Given the description of an element on the screen output the (x, y) to click on. 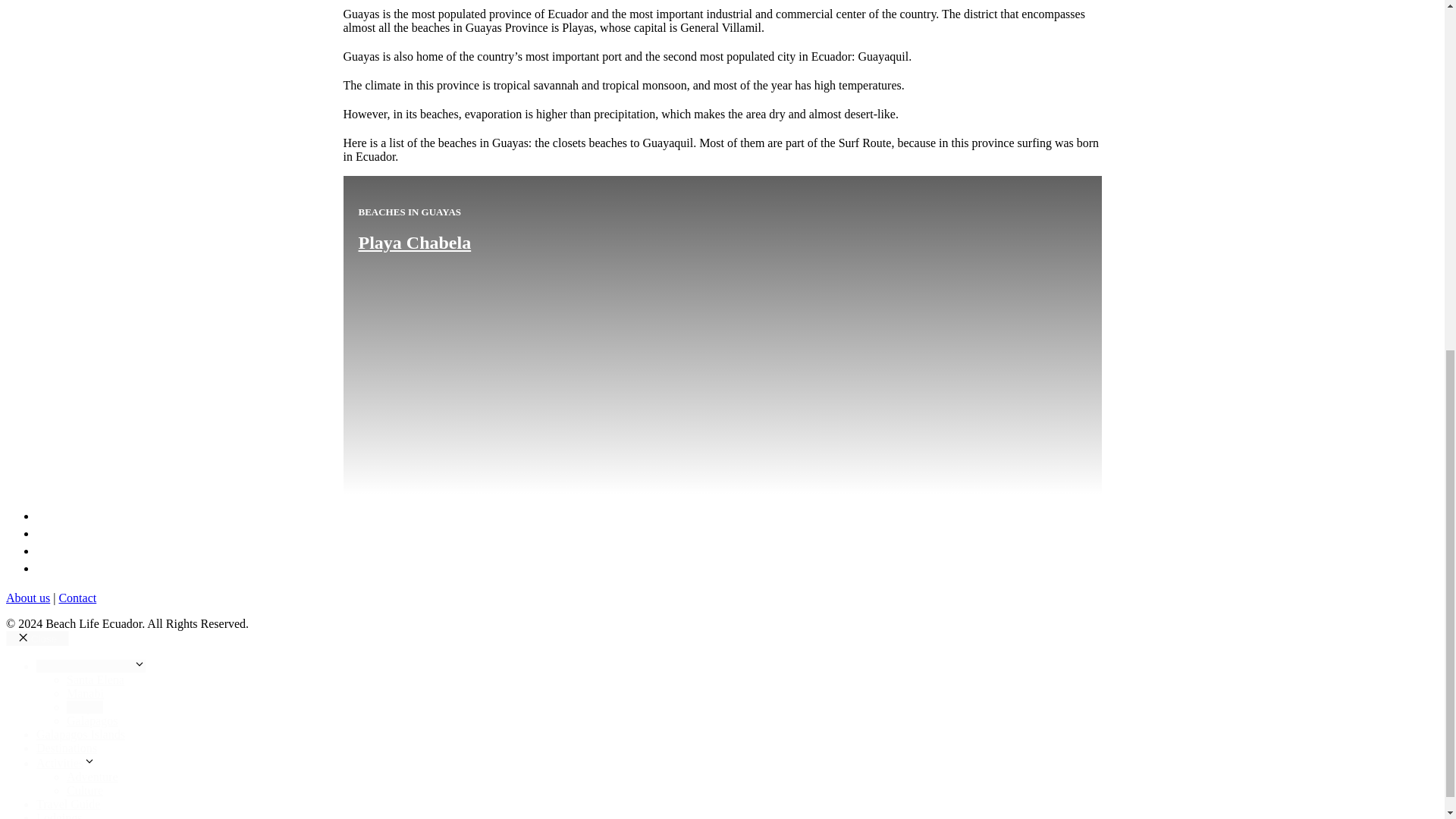
Close (36, 638)
Contact (77, 597)
Beaches In Ecuador (90, 666)
Playa Chabela (27, 597)
